Given the description of an element on the screen output the (x, y) to click on. 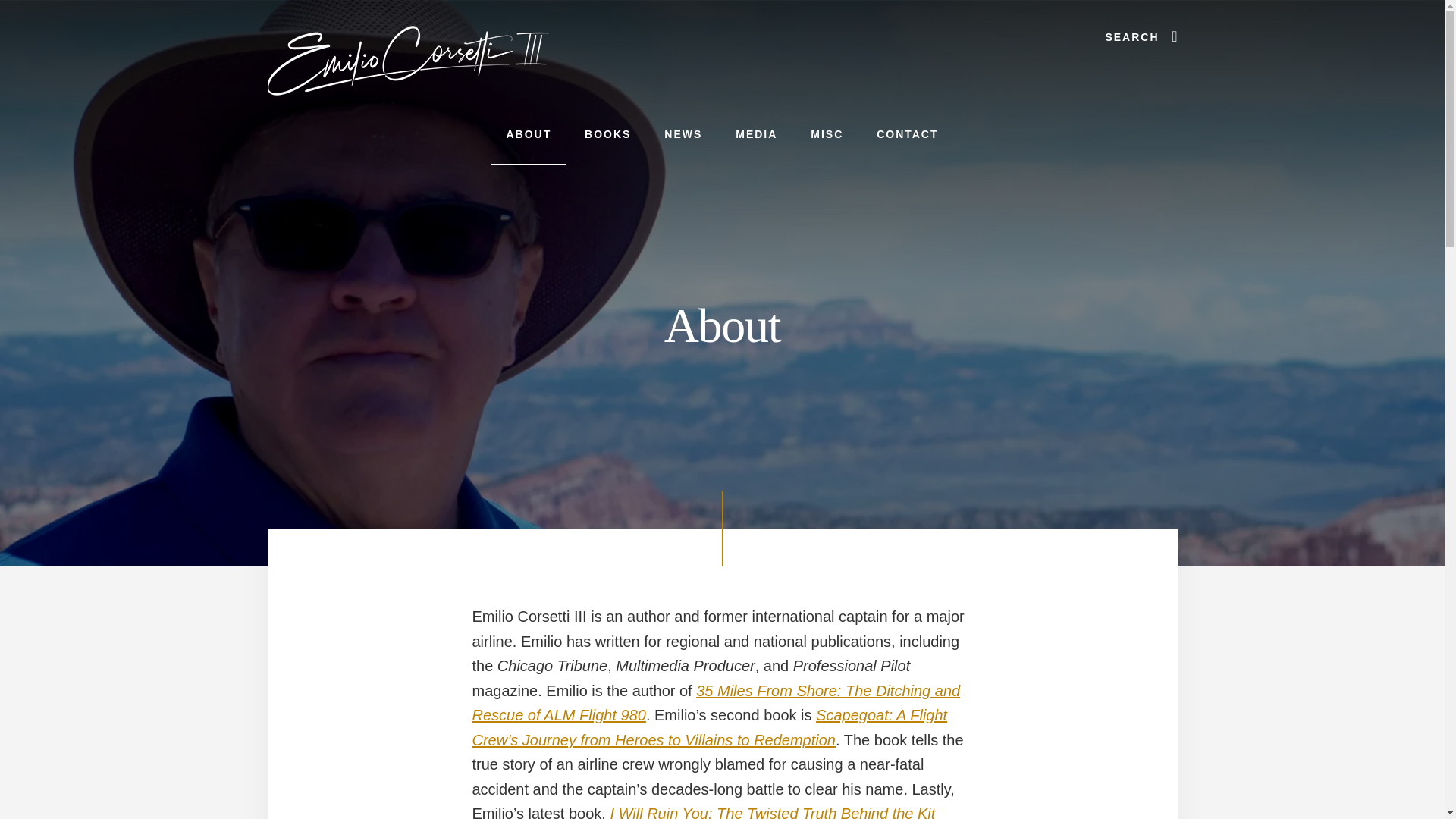
NEWS (683, 134)
BOOKS (607, 134)
ABOUT (528, 134)
